Given the description of an element on the screen output the (x, y) to click on. 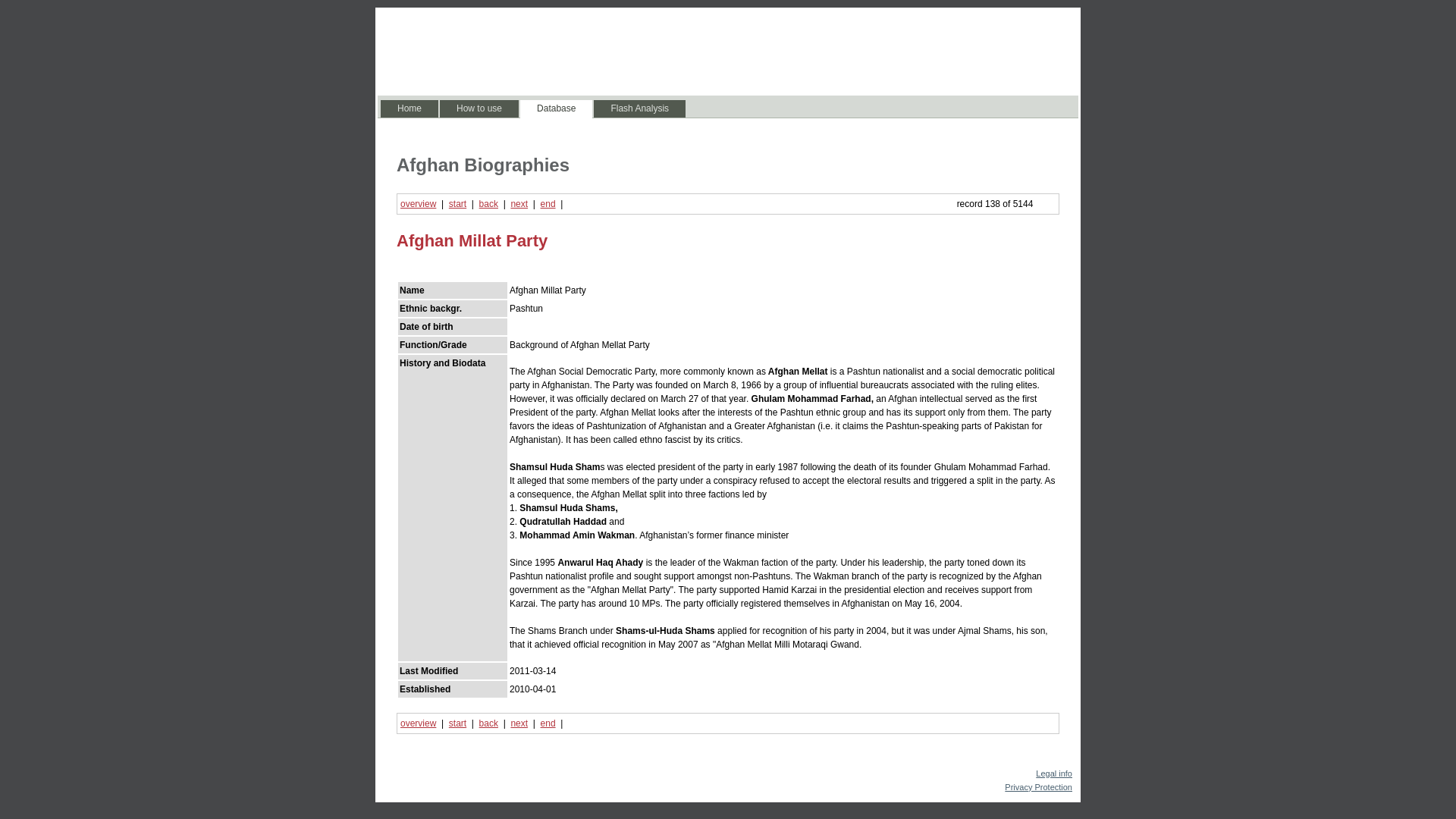
overview (417, 204)
Privacy Protection (1037, 786)
overview (417, 723)
back (488, 723)
Flash Analysis (639, 108)
Home (409, 108)
Database (555, 108)
next (519, 204)
end (548, 204)
How to use (478, 108)
